Given the description of an element on the screen output the (x, y) to click on. 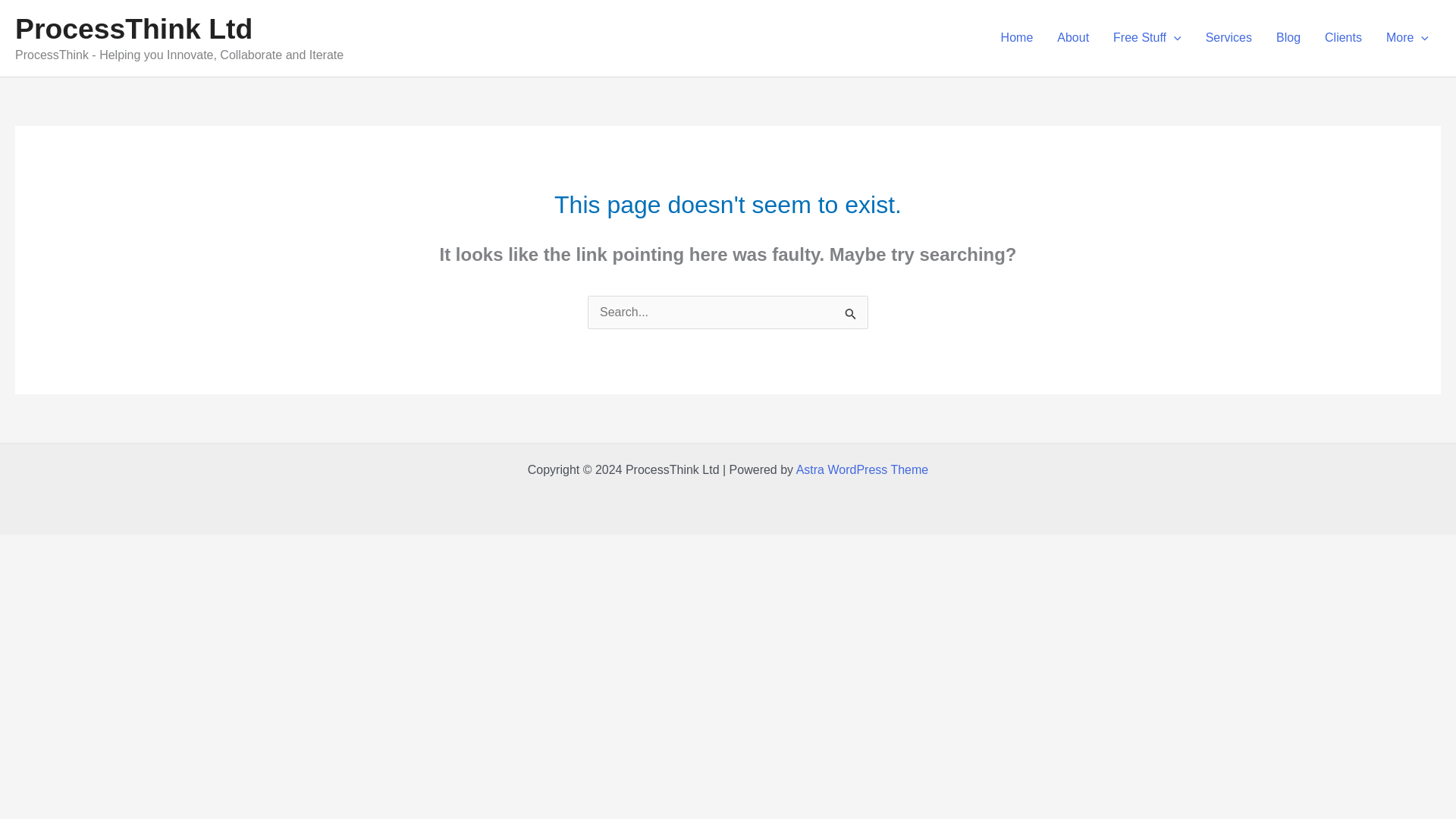
Services (1228, 37)
ProcessThink Ltd (132, 29)
Blog (1288, 37)
Search (850, 316)
Search (850, 316)
Astra WordPress Theme (862, 469)
About (1072, 37)
Search (850, 316)
Free Stuff (1146, 37)
Clients (1343, 37)
Home (1016, 37)
More (1407, 37)
